Given the description of an element on the screen output the (x, y) to click on. 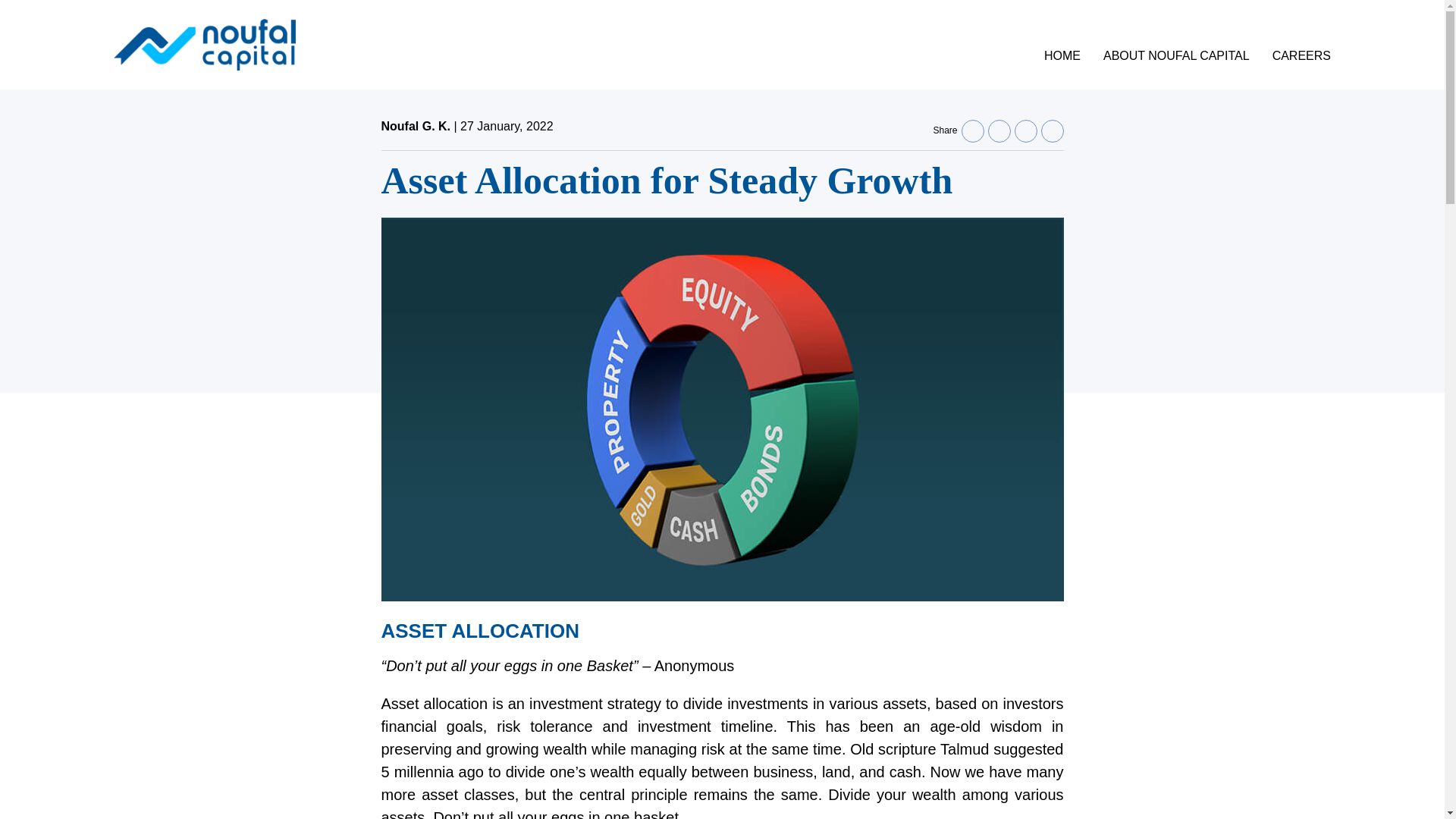
ABOUT NOUFAL CAPITAL (1176, 55)
WhatsApp (1051, 130)
HOME (1061, 55)
LinkedIn (998, 130)
Twitter (1025, 130)
CAREERS (1301, 55)
Facebook (972, 130)
